Given the description of an element on the screen output the (x, y) to click on. 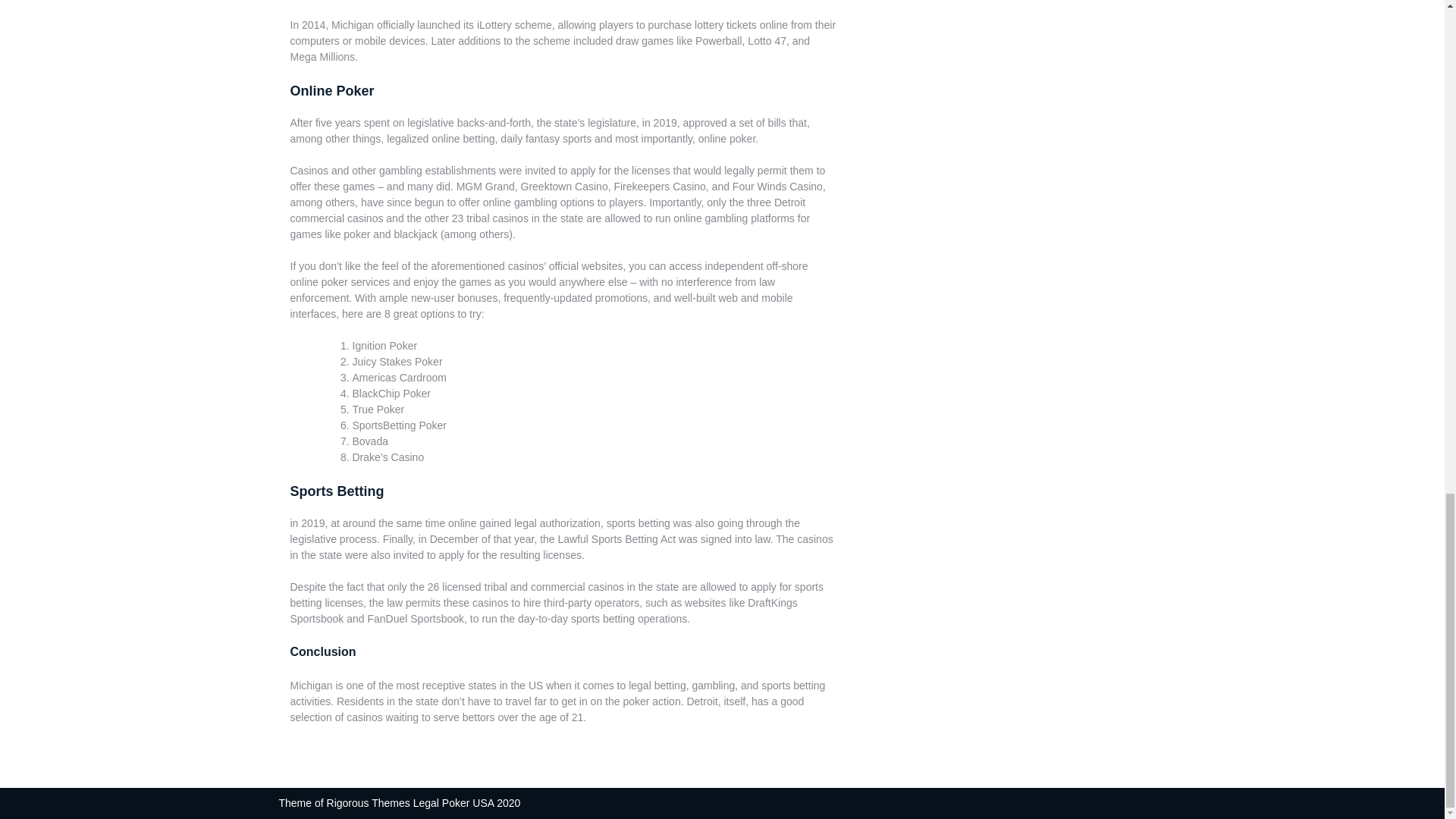
Rigorous Themes (368, 802)
